Given the description of an element on the screen output the (x, y) to click on. 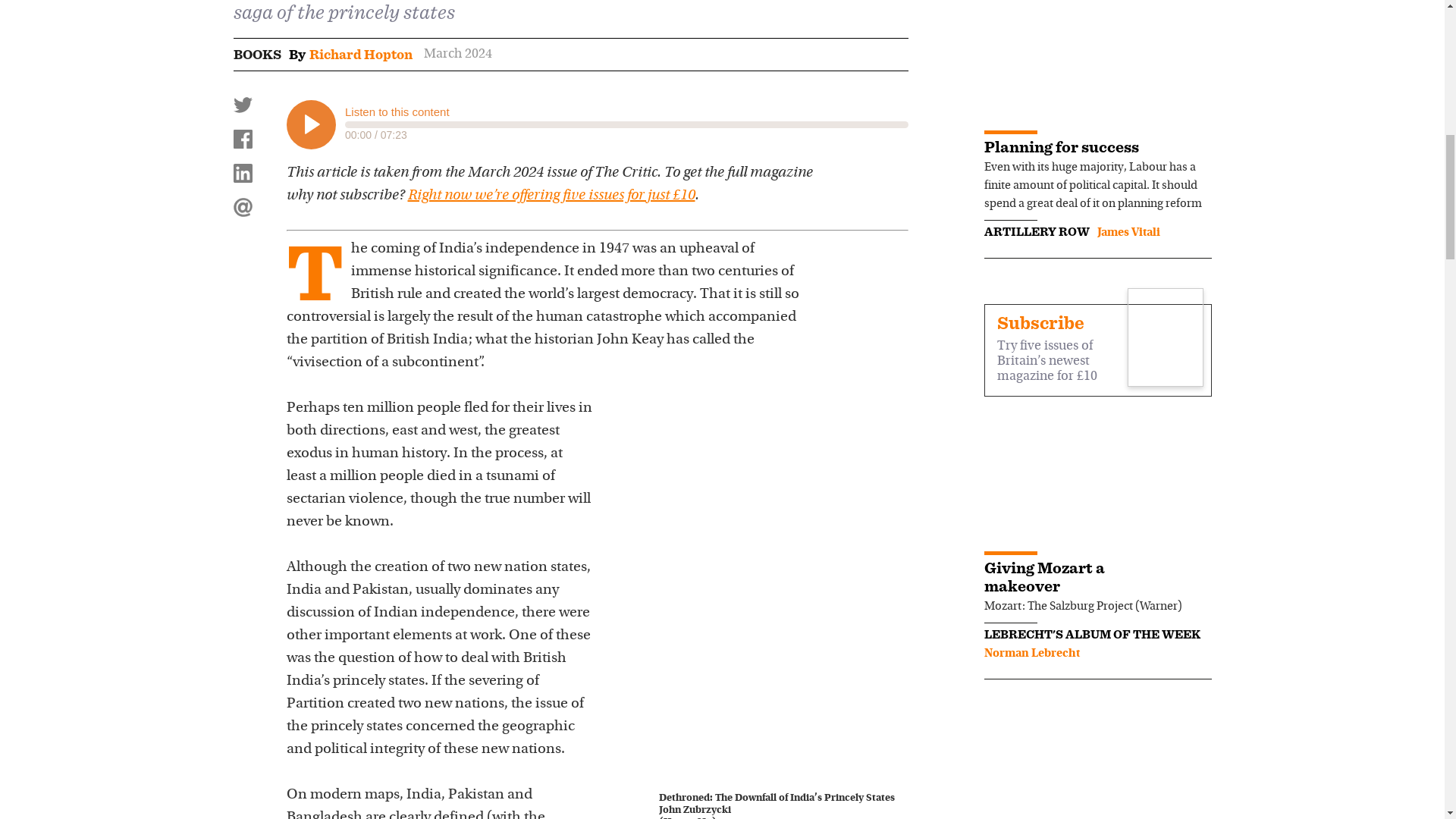
Posts by Richard Hopton (360, 54)
BOOKS (256, 54)
Richard Hopton (360, 54)
Posts by Norman Lebrecht (1032, 653)
Posts by James Vitali (1127, 232)
